Given the description of an element on the screen output the (x, y) to click on. 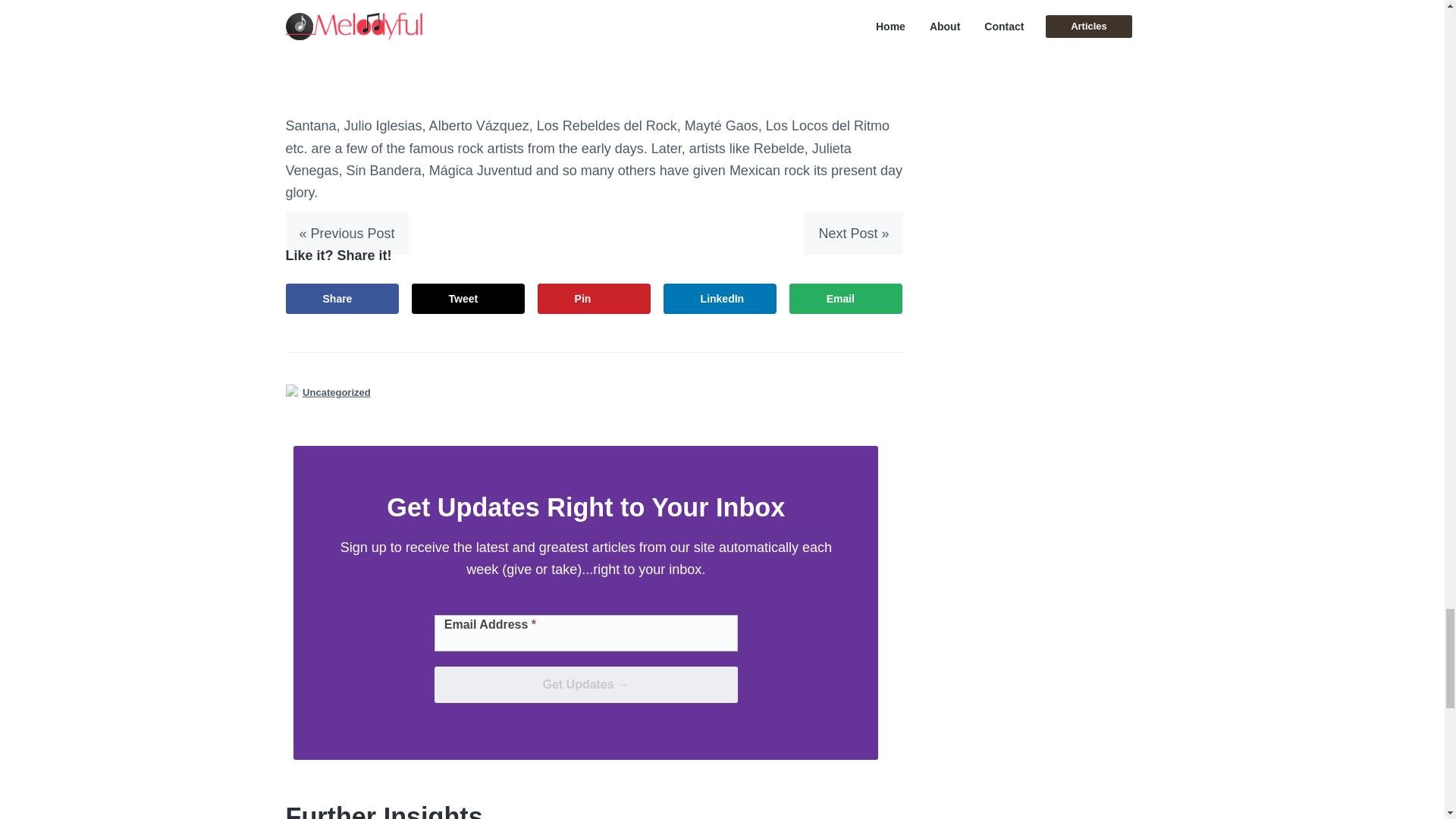
Pin (593, 298)
Share on X (468, 298)
LinkedIn (720, 298)
Share on LinkedIn (720, 298)
Email (845, 298)
Share (341, 298)
Tweet (468, 298)
Save to Pinterest (593, 298)
Send over email (845, 298)
Share on Facebook (341, 298)
